Given the description of an element on the screen output the (x, y) to click on. 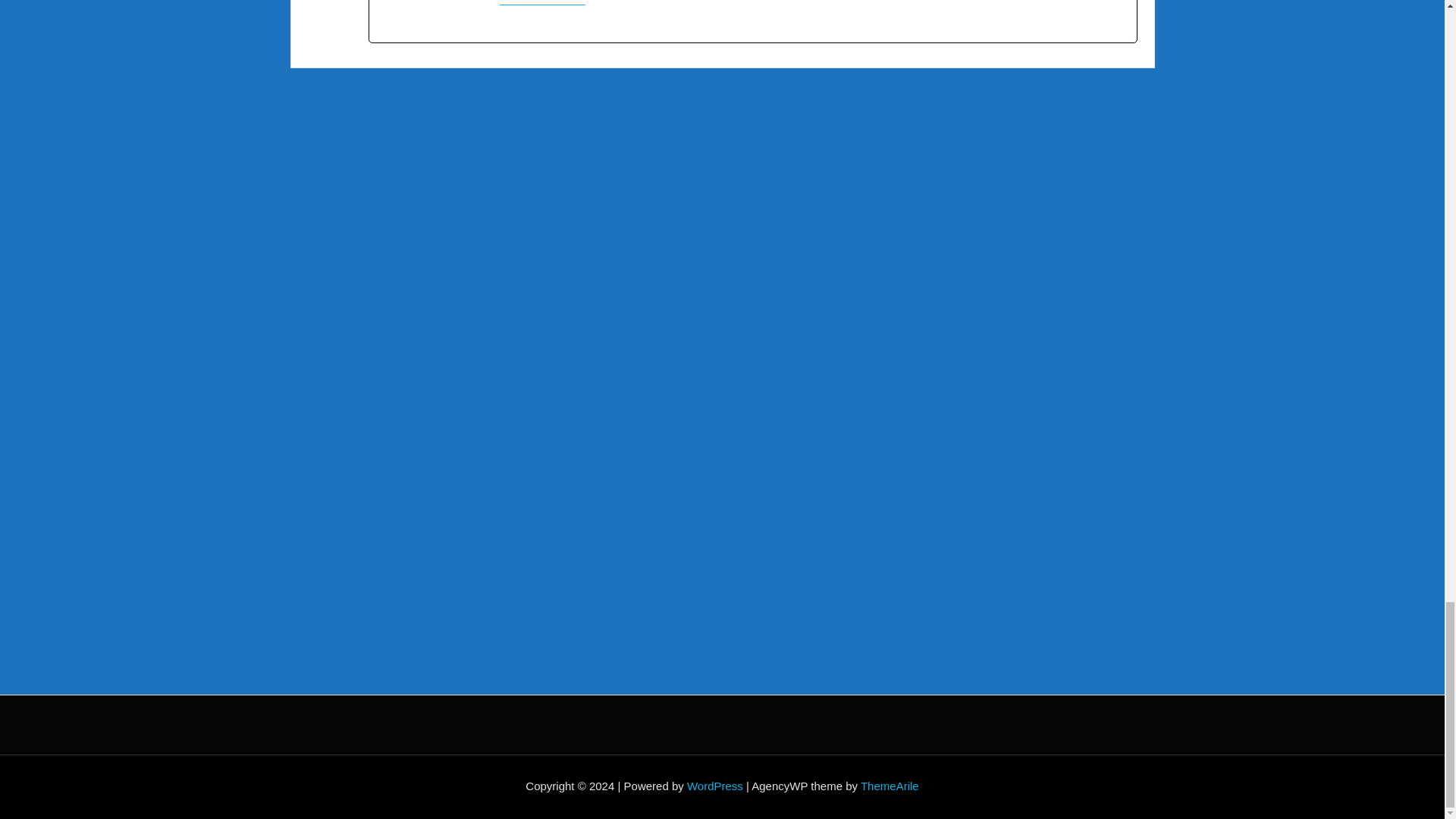
Submit (363, 582)
ThemeArile (889, 785)
See Full Bio (535, 2)
WordPress (714, 785)
